Given the description of an element on the screen output the (x, y) to click on. 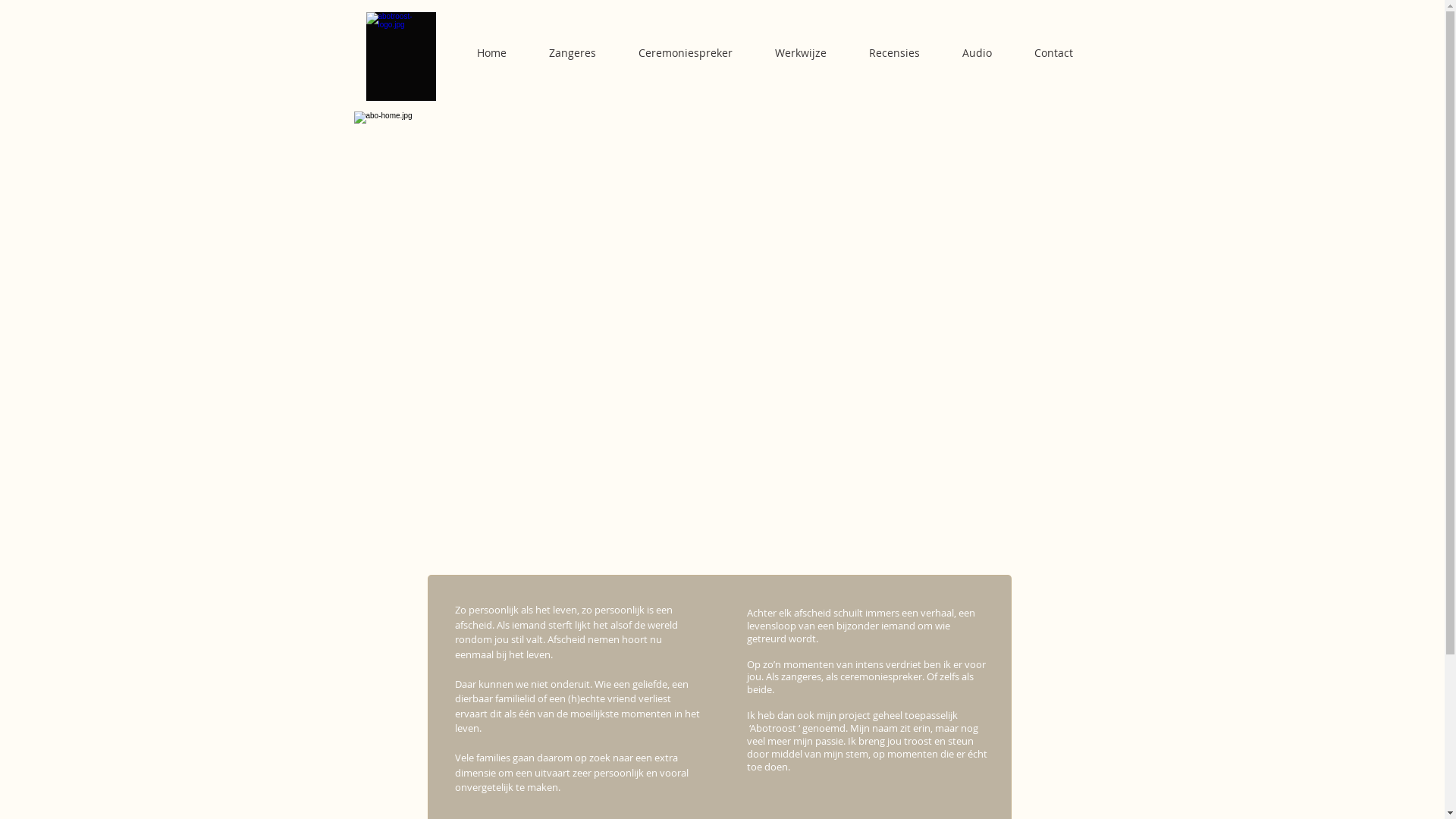
Zangeres Element type: text (572, 52)
Audio Element type: text (976, 52)
Ceremoniespreker Element type: text (685, 52)
zangeres enspreker bij afscheid Element type: hover (400, 56)
Een persoonlijke touch op momenten van afscheid Element type: hover (720, 333)
Recensies Element type: text (894, 52)
Werkwijze Element type: text (800, 52)
Home Element type: text (491, 52)
Contact Element type: text (1053, 52)
